Given the description of an element on the screen output the (x, y) to click on. 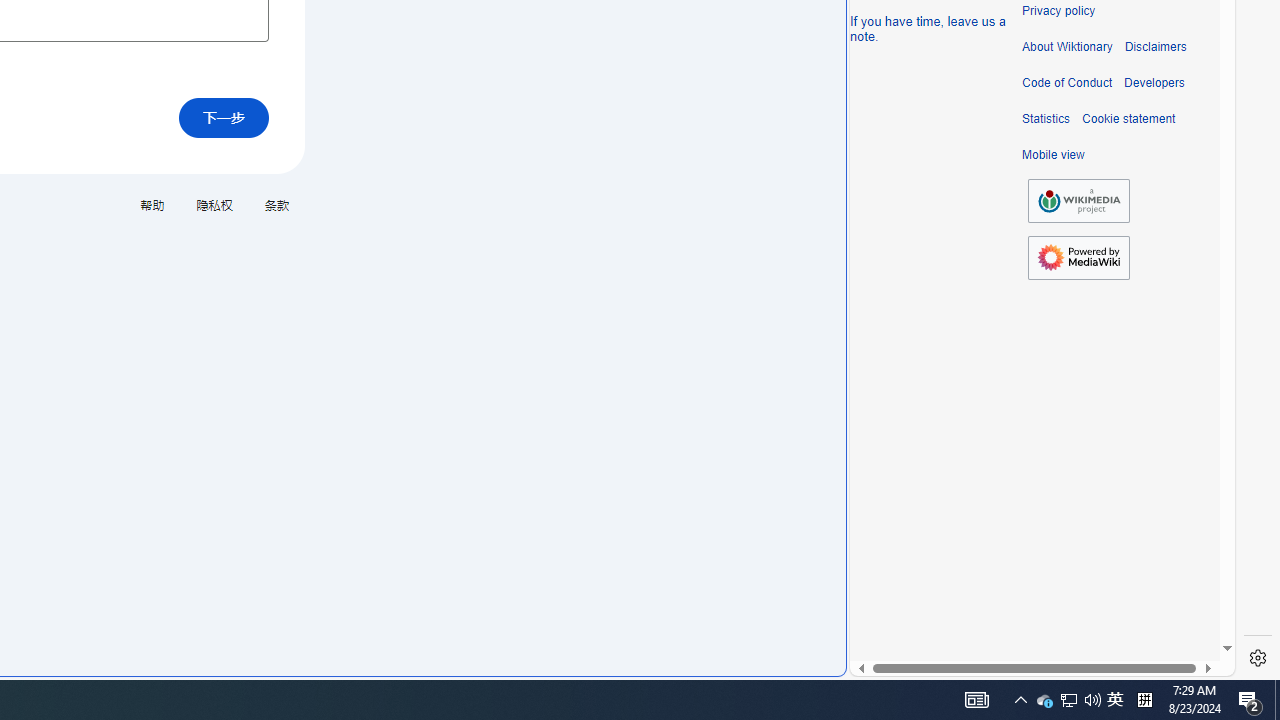
Disclaimers (1154, 47)
Code of Conduct (1067, 83)
Privacy policy (1058, 11)
Statistics (1046, 119)
AutomationID: footer-copyrightico (1078, 200)
Developers (1154, 83)
Mobile view (1053, 155)
If you have time, leave us a note. (927, 27)
